Given the description of an element on the screen output the (x, y) to click on. 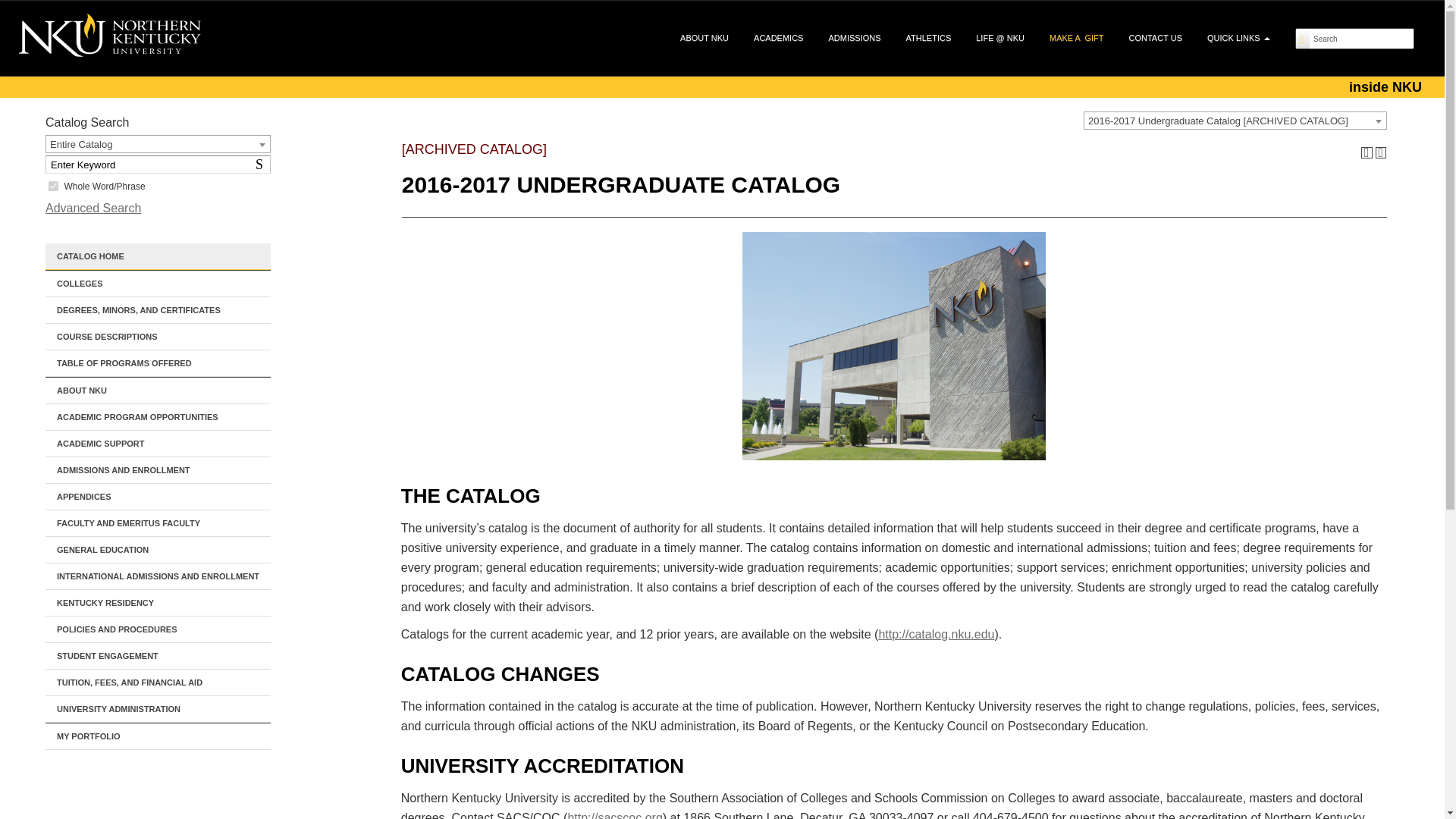
Search (261, 164)
QUICK LINKS (1239, 37)
Search (1360, 38)
Choose Search Location (157, 144)
FACULTY AND EMERITUS FACULTY (157, 523)
1 (261, 164)
Choose Search Location (53, 185)
GO (1360, 38)
Entire Catalog (16, 9)
TABLE OF PROGRAMS OFFERED (157, 144)
ATHLETICS (157, 363)
ADMISSIONS (928, 37)
COURSE DESCRIPTIONS (853, 37)
